Given the description of an element on the screen output the (x, y) to click on. 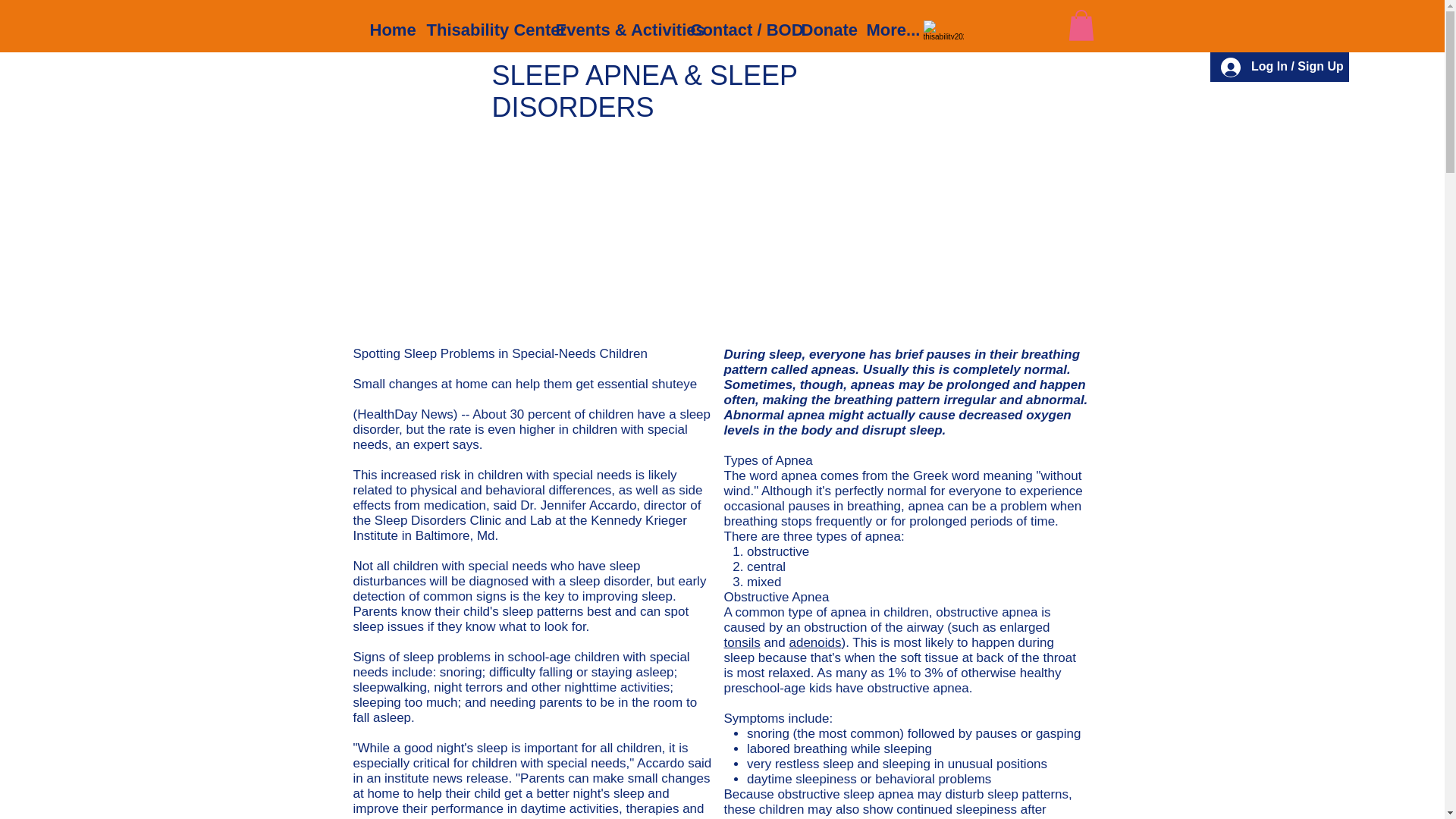
Donate (823, 23)
Thisability Center (479, 23)
Home (386, 23)
